Given the description of an element on the screen output the (x, y) to click on. 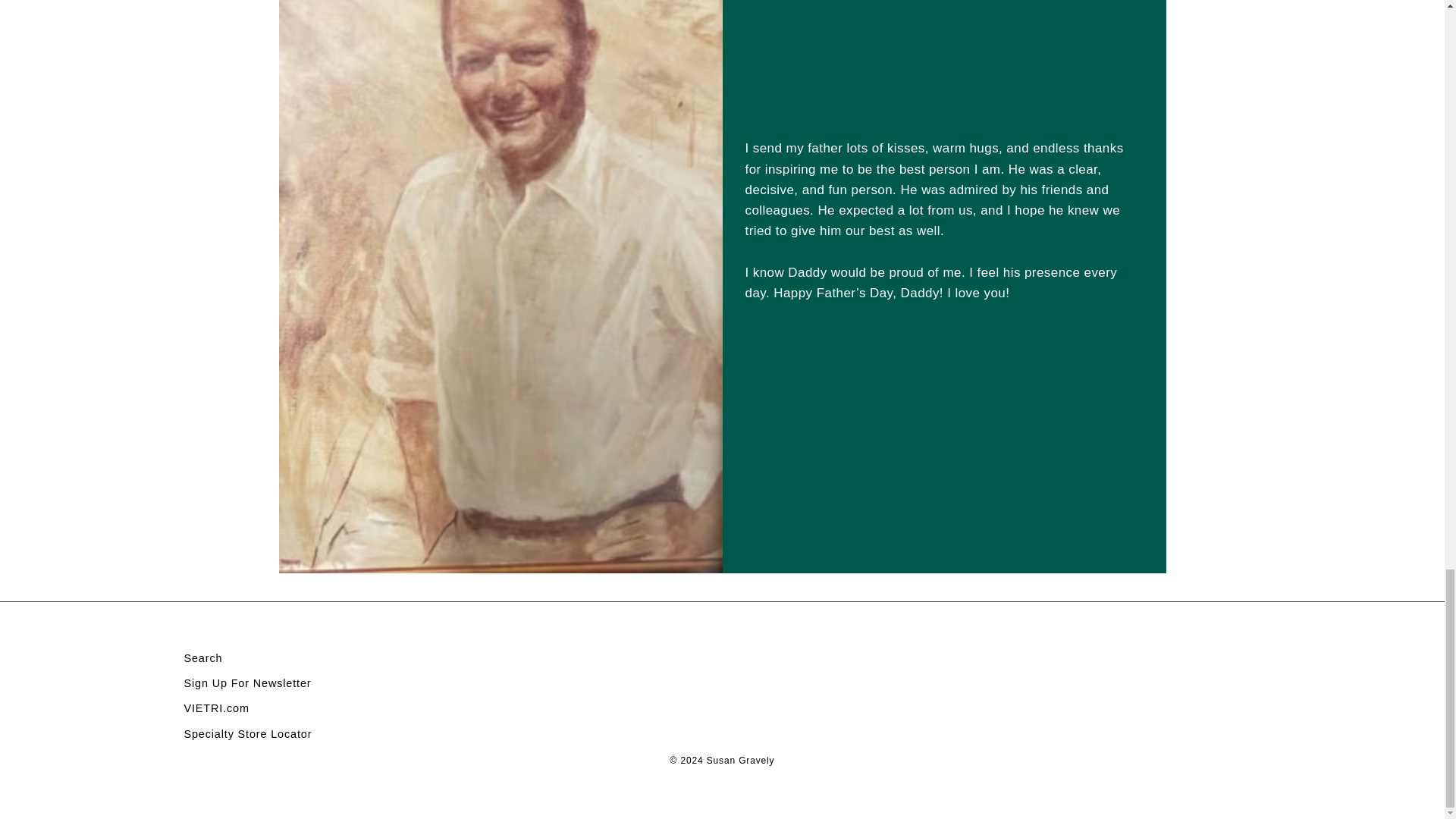
Search (202, 658)
Sign Up For Newsletter (247, 683)
VIETRI.com (215, 708)
Specialty Store Locator (247, 734)
